Given the description of an element on the screen output the (x, y) to click on. 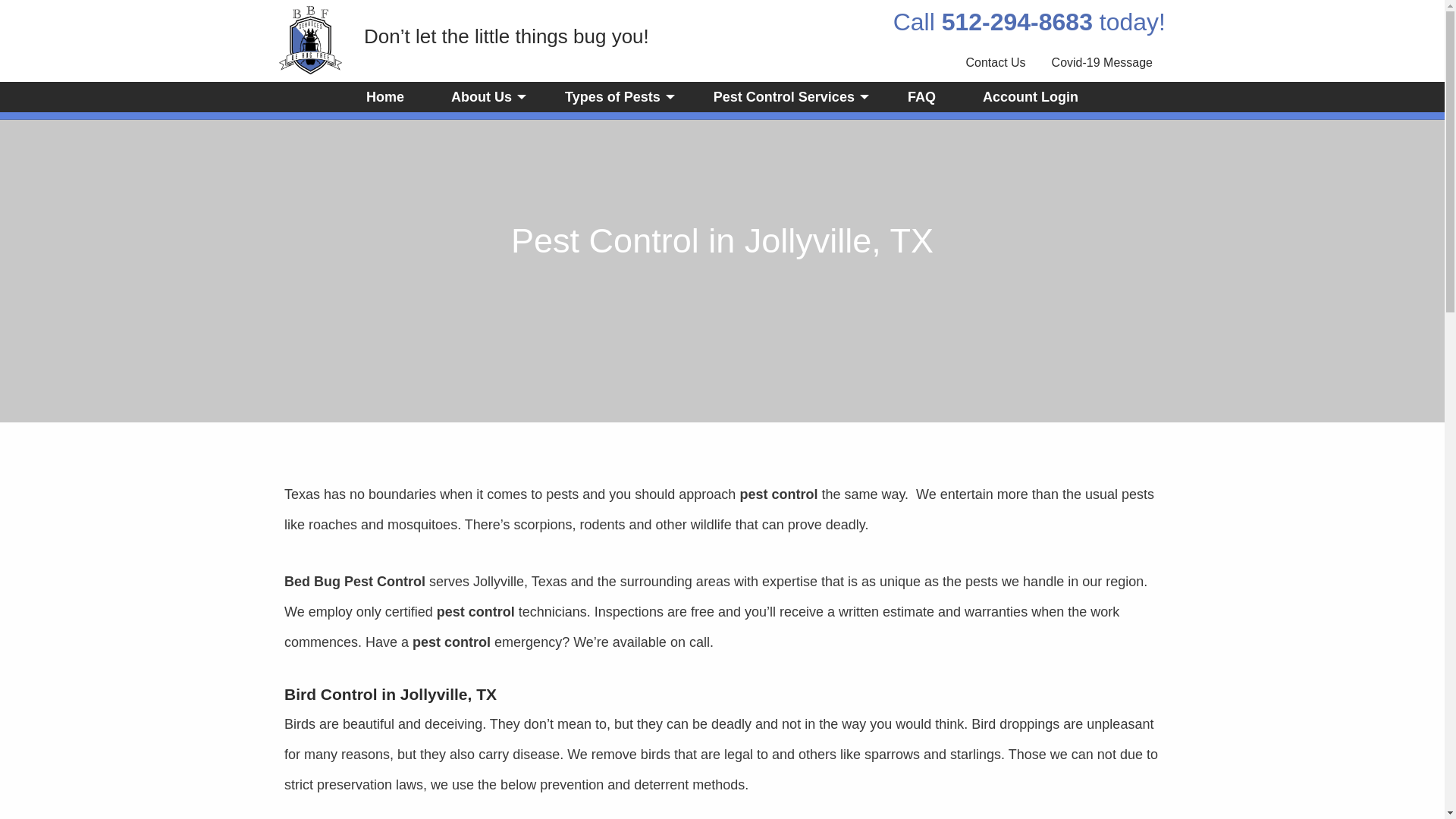
Home (384, 96)
Contact Us (995, 62)
Covid-19 Message (1102, 62)
Types of Pests (615, 96)
About Us (484, 96)
